Given the description of an element on the screen output the (x, y) to click on. 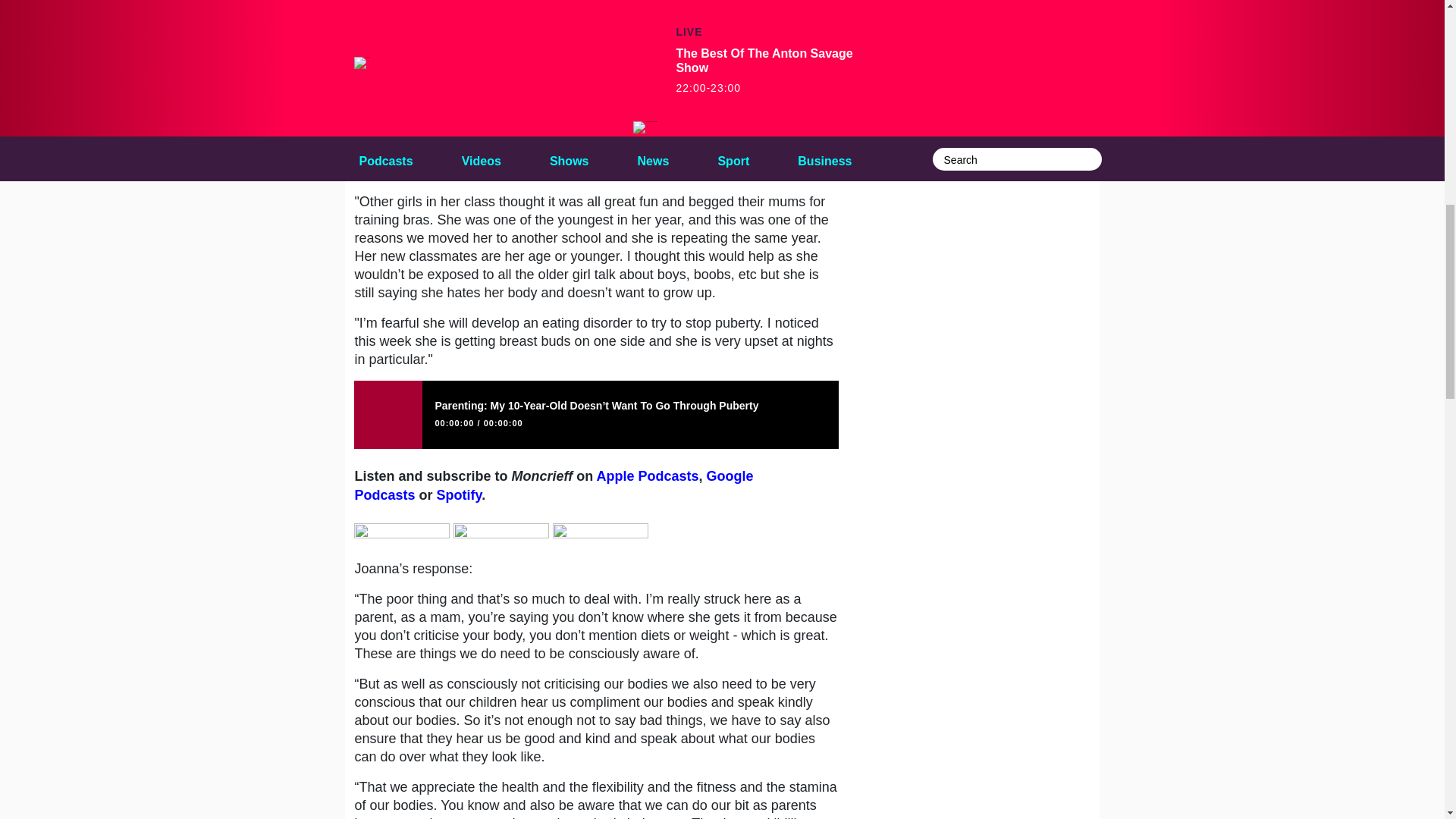
Google Podcasts (552, 485)
Apple Podcasts (647, 476)
Spotify (458, 494)
